Given the description of an element on the screen output the (x, y) to click on. 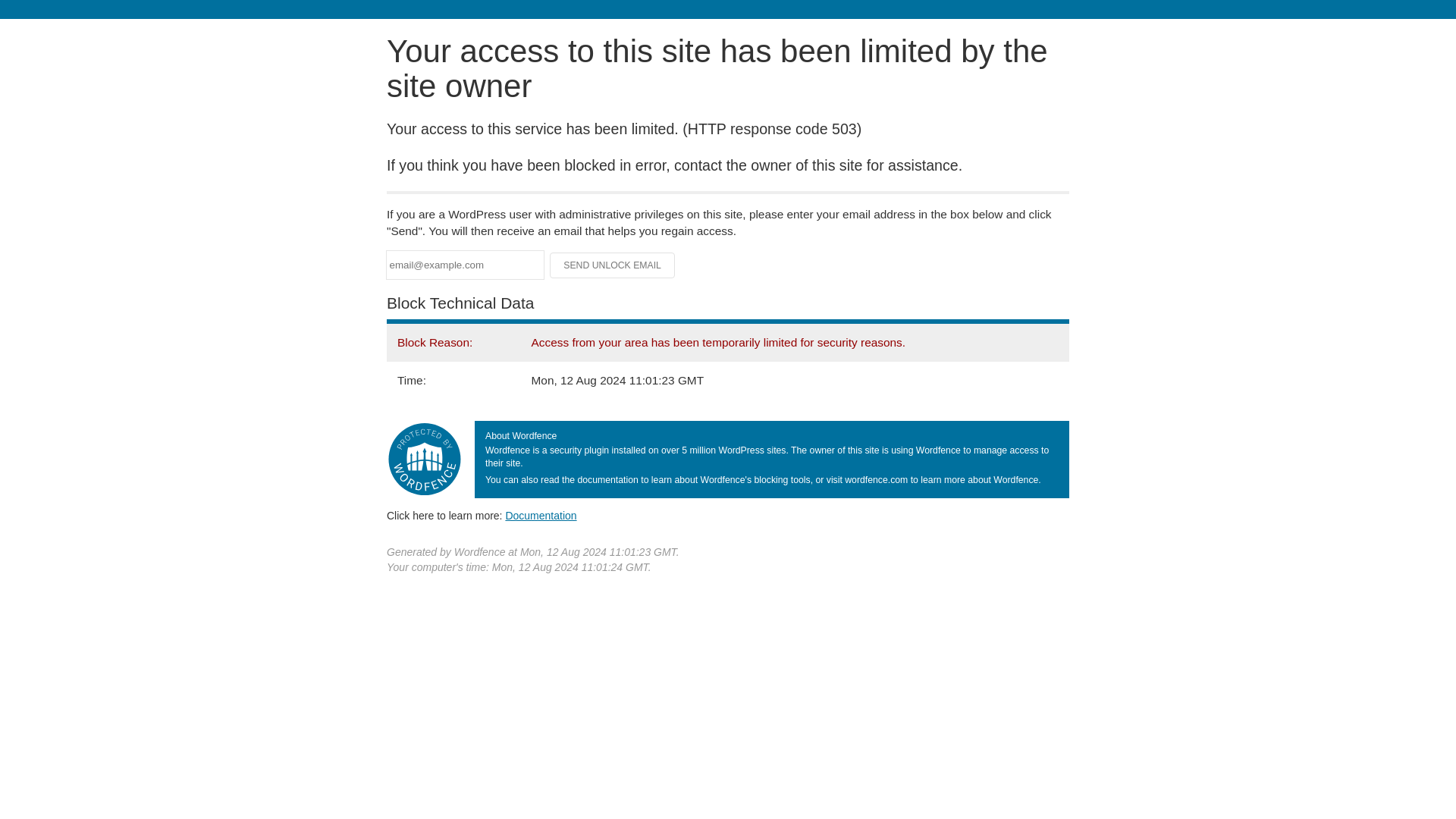
Documentation (540, 515)
Send Unlock Email (612, 265)
Send Unlock Email (612, 265)
